Given the description of an element on the screen output the (x, y) to click on. 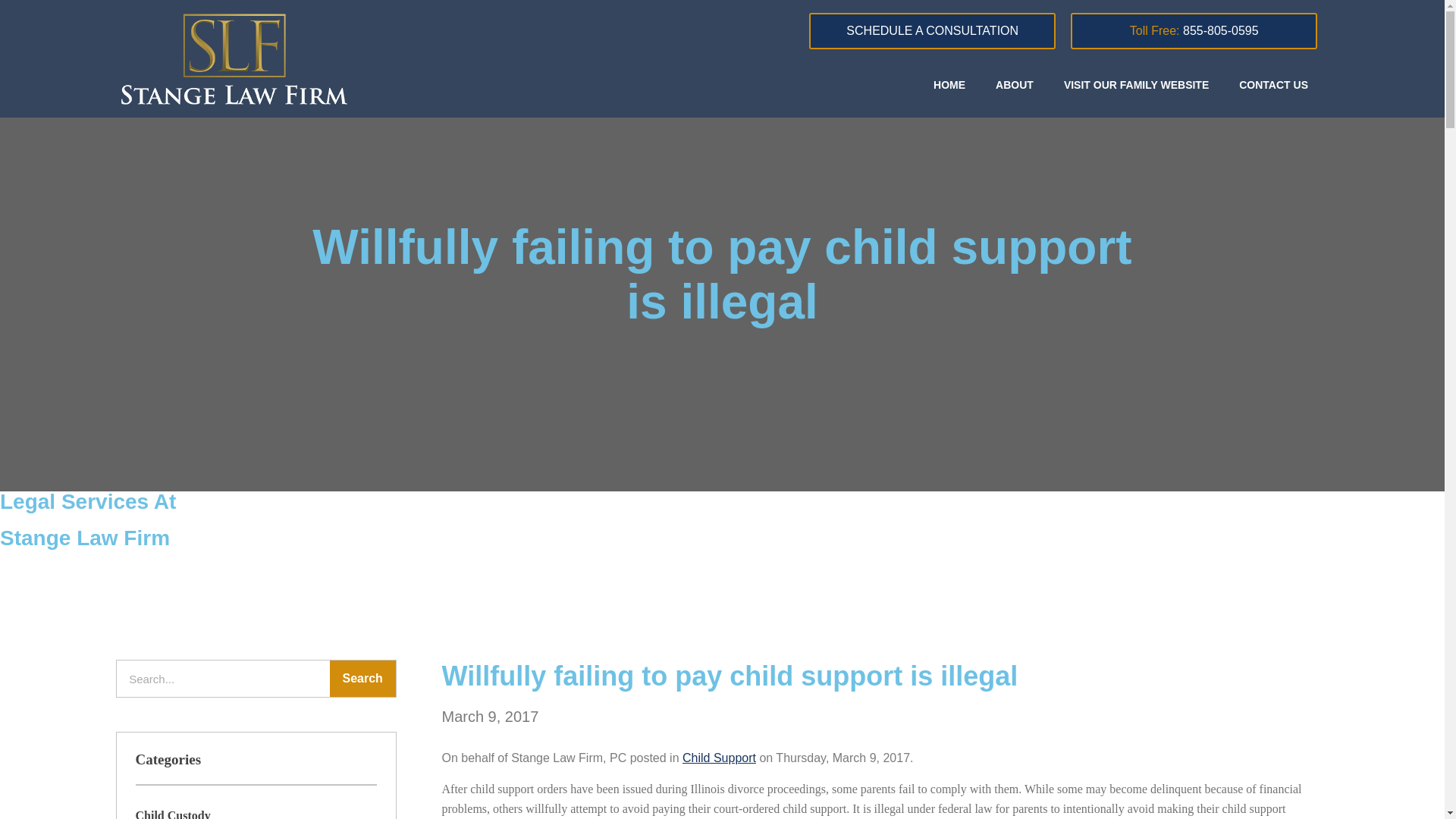
VISIT OUR FAMILY WEBSITE (1136, 84)
Family Law (439, 504)
Toll Free: 855-805-0595 (1193, 30)
Property Division (815, 531)
Child Custody (446, 559)
HOME (948, 84)
Military Divorce (1175, 504)
Search (363, 678)
High Net Worth Divorce (834, 559)
Alternative Dispute Resolution (1213, 531)
Child Custody (172, 814)
Family Violence (1174, 559)
SCHEDULE A CONSULTATION (932, 30)
CONTACT US (1273, 84)
ABOUT (1013, 84)
